Given the description of an element on the screen output the (x, y) to click on. 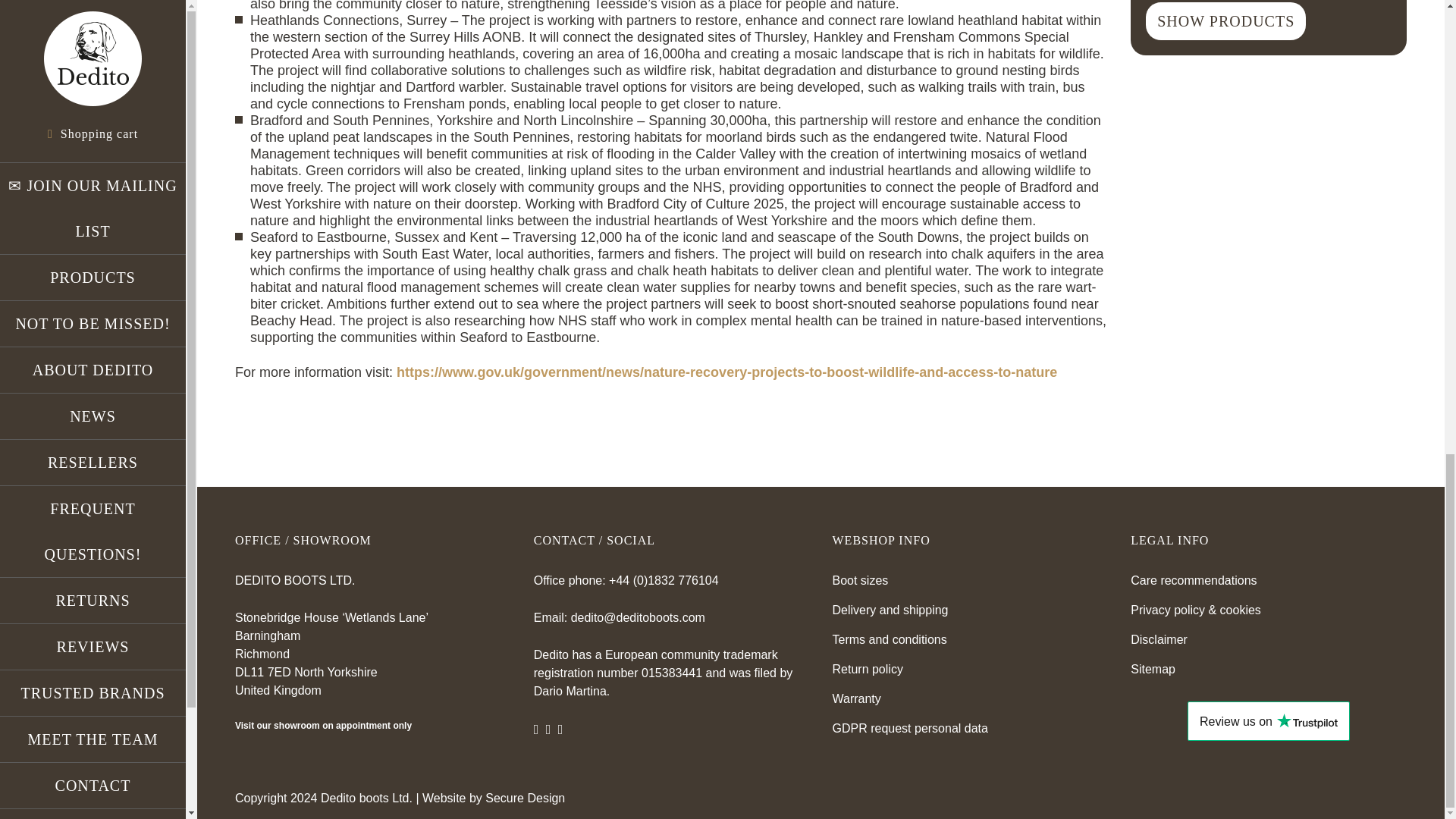
Warranty (856, 698)
Terms and conditions (889, 639)
Delivery and shipping (890, 609)
Return policy (867, 668)
Disclaimer (1159, 639)
GDPR request personal data (910, 727)
Sitemap (1152, 668)
Secure Design (524, 797)
Boot sizes (860, 580)
